Given the description of an element on the screen output the (x, y) to click on. 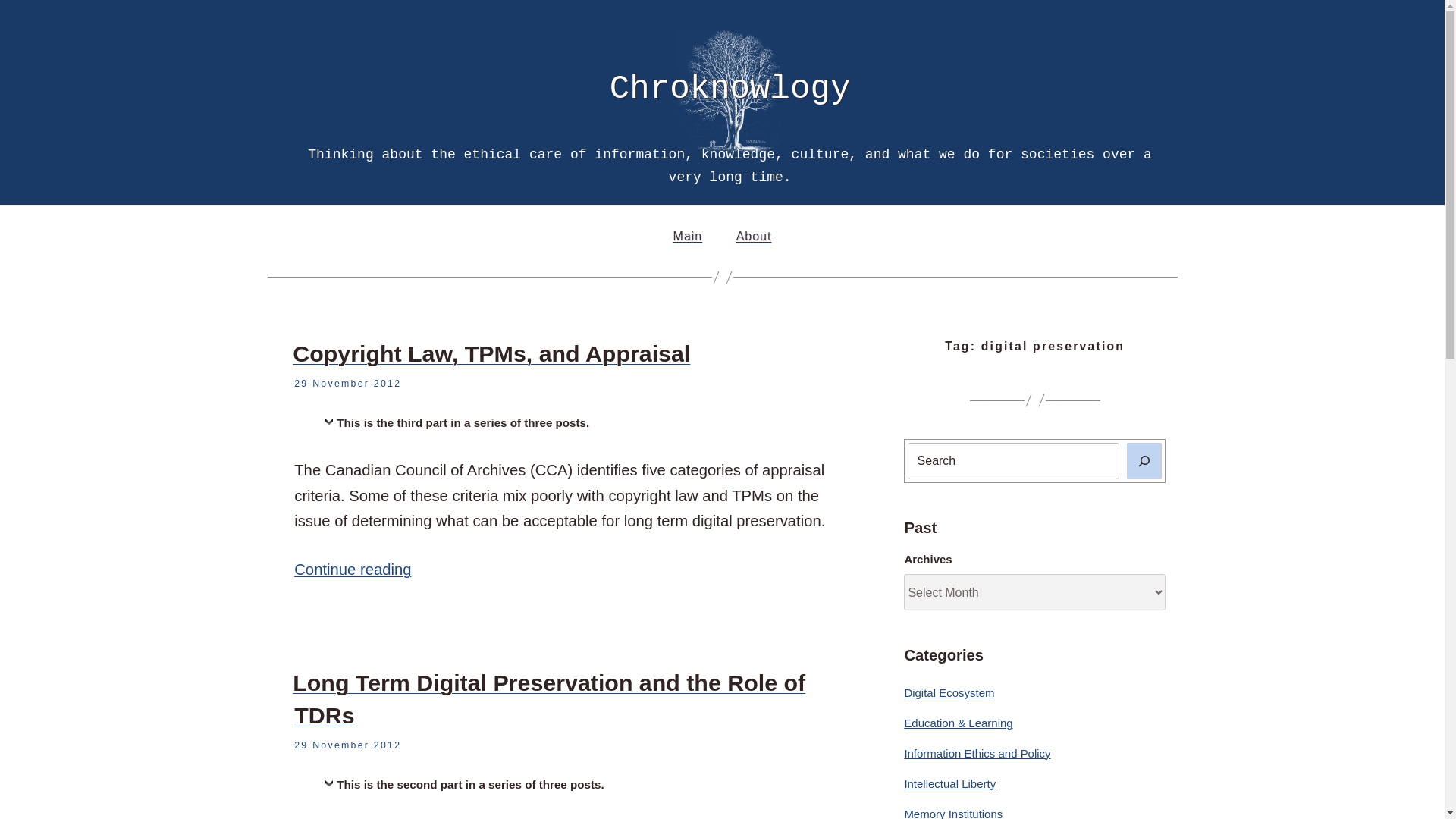
Long Term Digital Preservation and the Role of TDRs (548, 699)
Digital Ecosystem (949, 692)
Intellectual Liberty (949, 783)
Memory Institutions (953, 813)
This is the third part in a series of three posts. (456, 426)
Information Ethics and Policy (976, 753)
29 November 2012 (347, 383)
29 November 2012 (347, 745)
Chroknowlogy (730, 88)
Copyright Law, TPMs, and Appraisal (491, 353)
About (753, 236)
Main (687, 236)
This is the second part in a series of three posts. (464, 788)
